Given the description of an element on the screen output the (x, y) to click on. 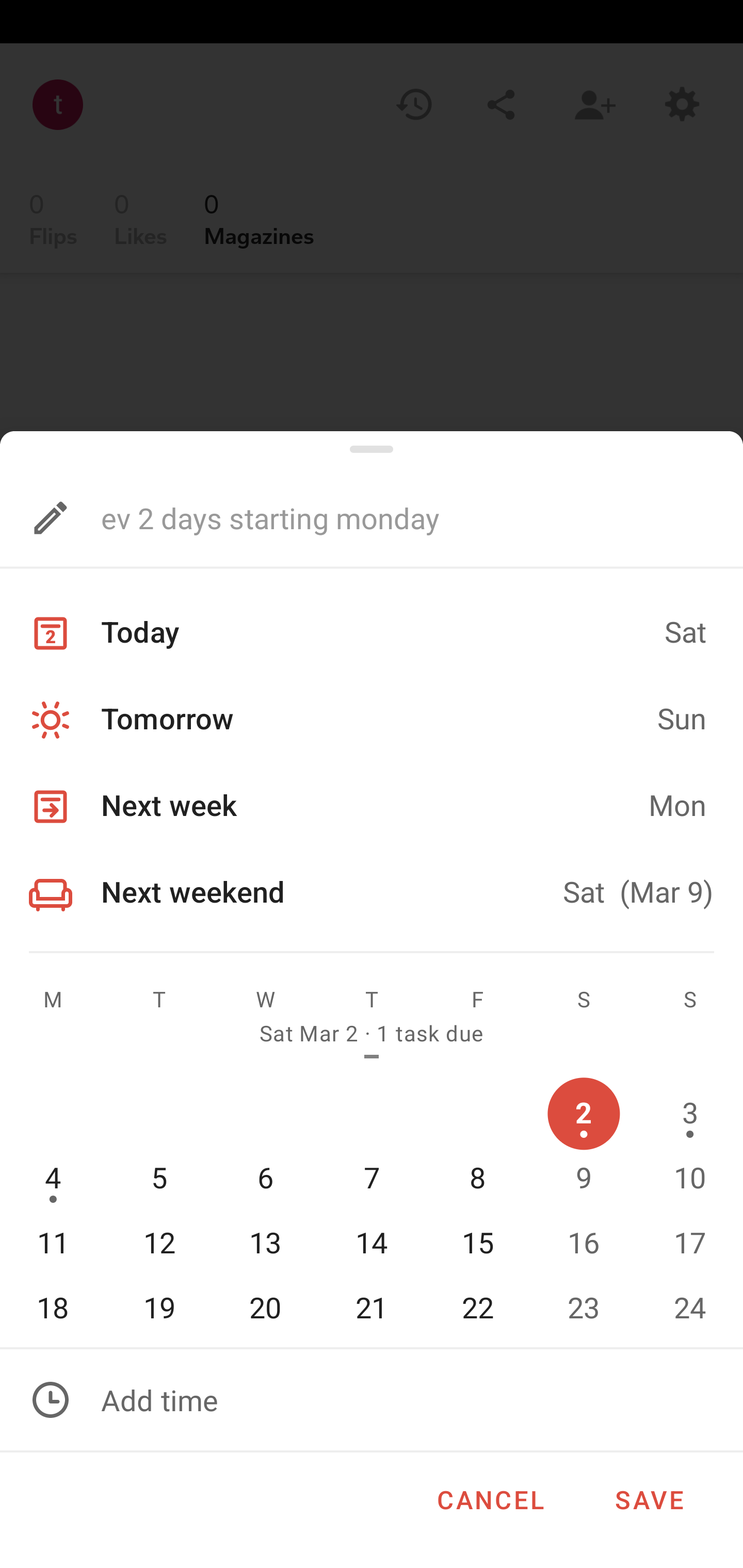
ev 2 days starting monday (334, 517)
Today Sat  (371, 633)
Tomorrow Sun  (371, 720)
Next week Mon  (371, 806)
Next weekend Sat  (Mar 9) (371, 892)
Add time (371, 1400)
CANCEL (489, 1495)
SAVE (648, 1495)
